Given the description of an element on the screen output the (x, y) to click on. 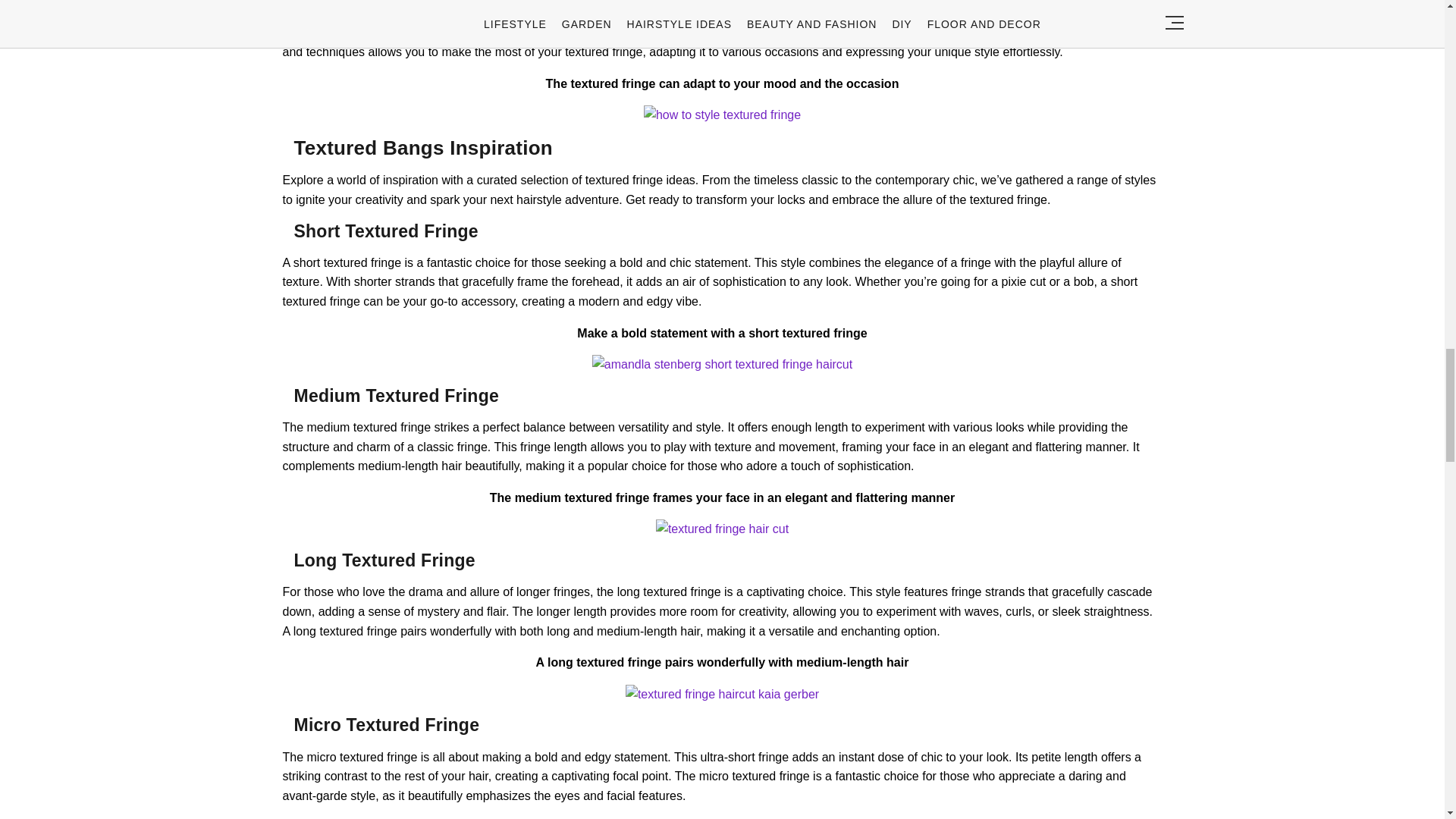
how to style textured fringe (721, 115)
amandla stenberg short textured fringe haircut (721, 364)
textured fringe hair cut (722, 528)
